Given the description of an element on the screen output the (x, y) to click on. 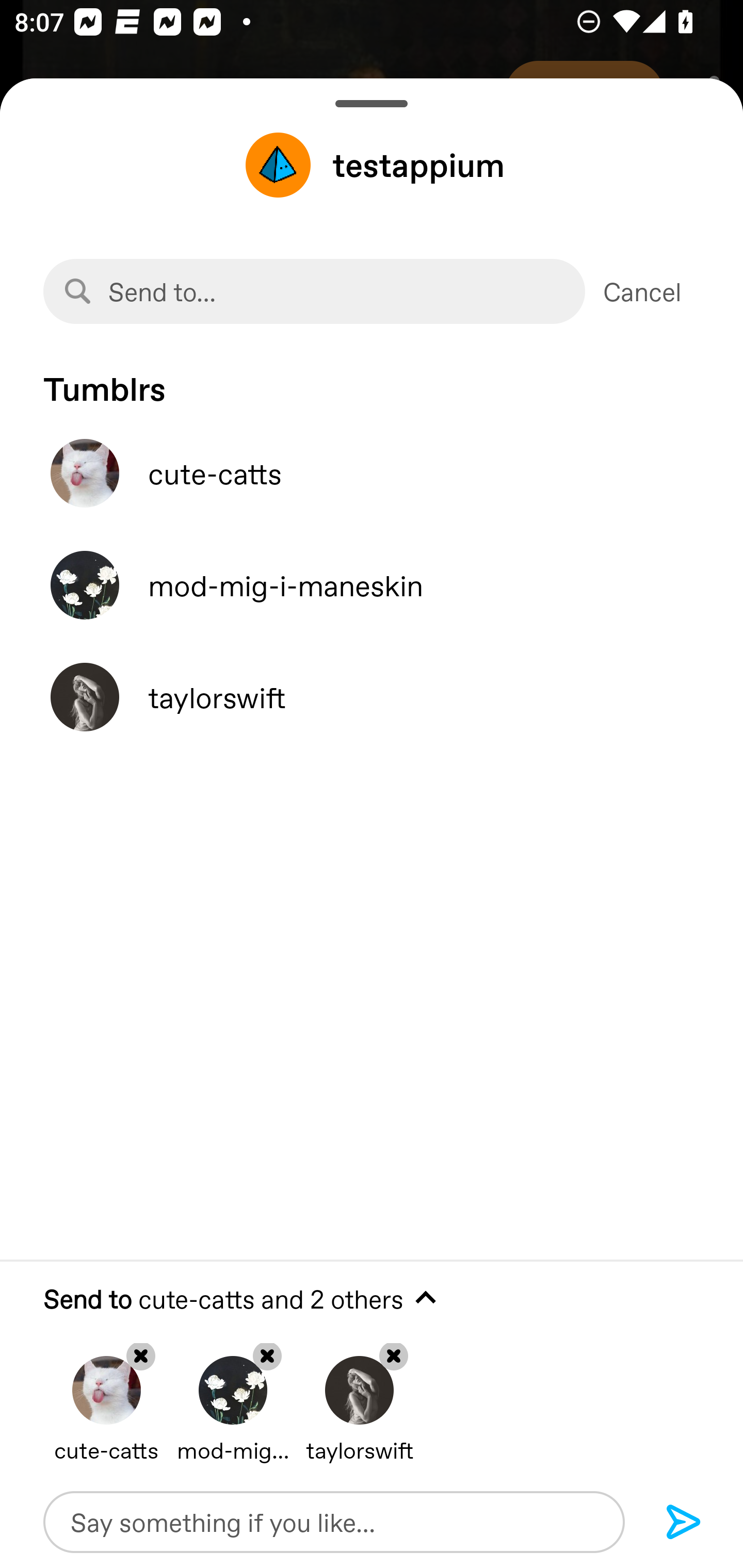
testappium (371, 164)
Cancel (642, 291)
Send to… (314, 291)
Tumblrs (371, 379)
cute-catts (371, 473)
mod-mig-i-maneskin (371, 585)
taylorswift (371, 696)
Send to cute-catts and 2 others (371, 1298)
Dismiss cute-catts (106, 1395)
Dismiss mod-mig-i-maneskin (232, 1395)
Dismiss taylorswift (359, 1395)
Send (683, 1522)
Say something if you like… (333, 1521)
